Given the description of an element on the screen output the (x, y) to click on. 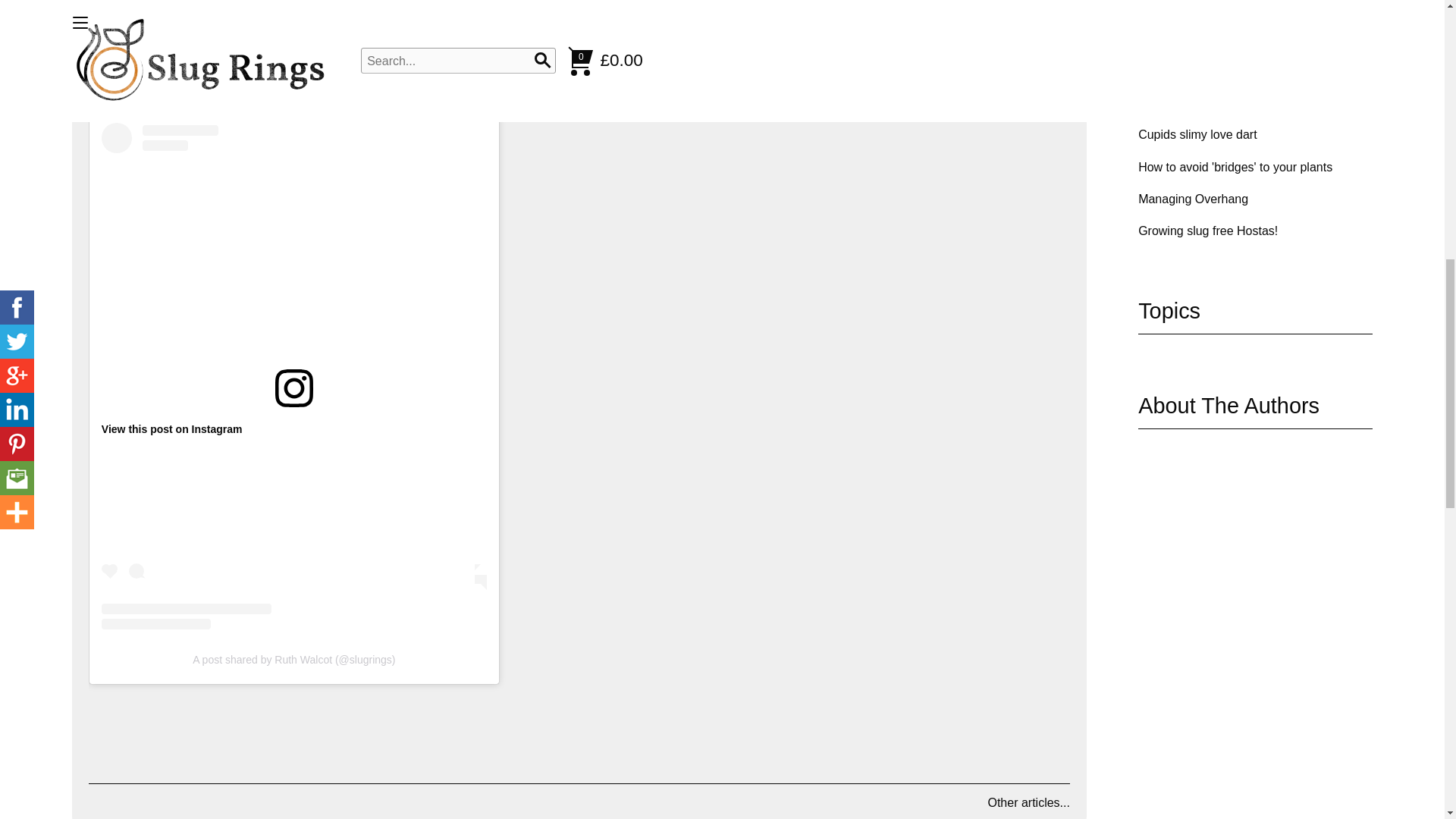
Other articles... (1027, 802)
How to avoid 'bridges' to your plants (1235, 166)
Using Slugrings round larger plants (1232, 69)
View this post on Instagram (172, 428)
Slugs: A perennial problem (1210, 38)
Growing slug free Hostas! (1208, 230)
Testing alternative slug deterrents (1228, 6)
Cupids slimy love dart (1197, 133)
Managing Overhang (1192, 198)
Slug proof Gardening (1195, 102)
